Given the description of an element on the screen output the (x, y) to click on. 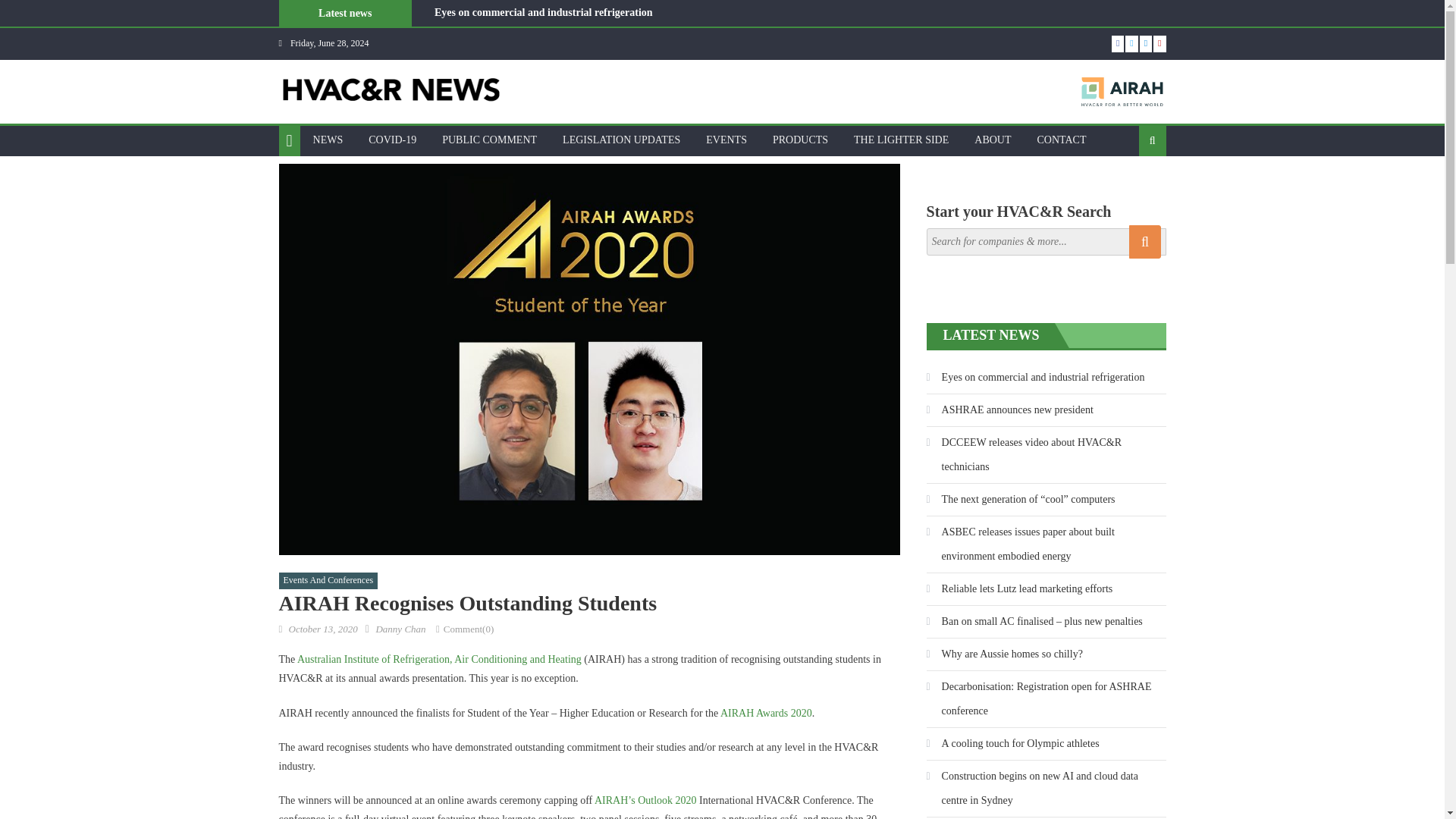
AIRAH Awards 2020 (766, 713)
ABOUT (992, 140)
CONTACT (1061, 140)
PUBLIC COMMENT (489, 140)
ASHRAE announces new president (514, 30)
EVENTS (726, 140)
Search (1128, 189)
Eyes on commercial and industrial refrigeration (542, 12)
PRODUCTS (800, 140)
